Given the description of an element on the screen output the (x, y) to click on. 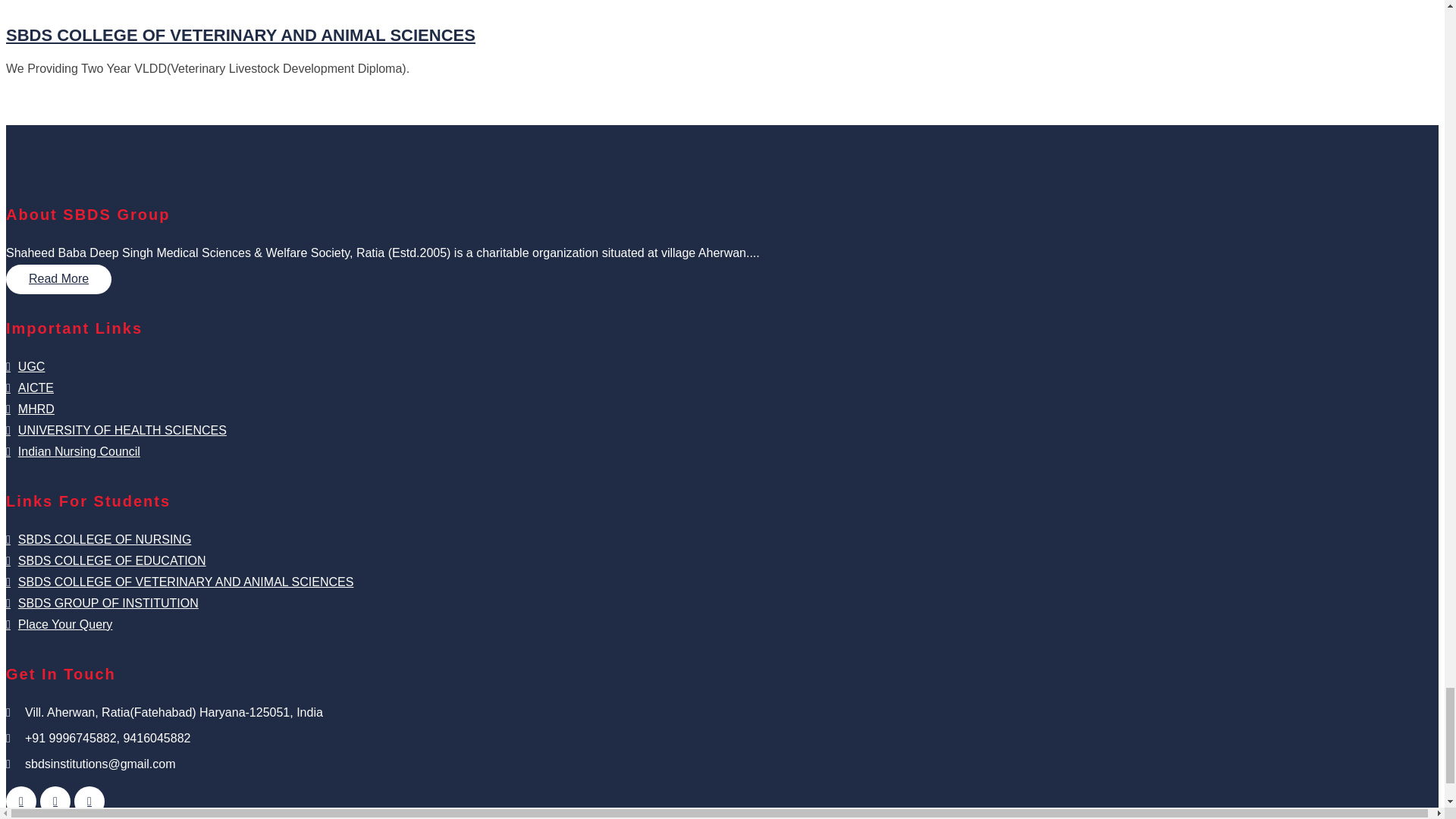
SBDS COLLEGE OF VETERINARY AND ANIMAL SCIENCES (240, 35)
Read More (58, 279)
